Given the description of an element on the screen output the (x, y) to click on. 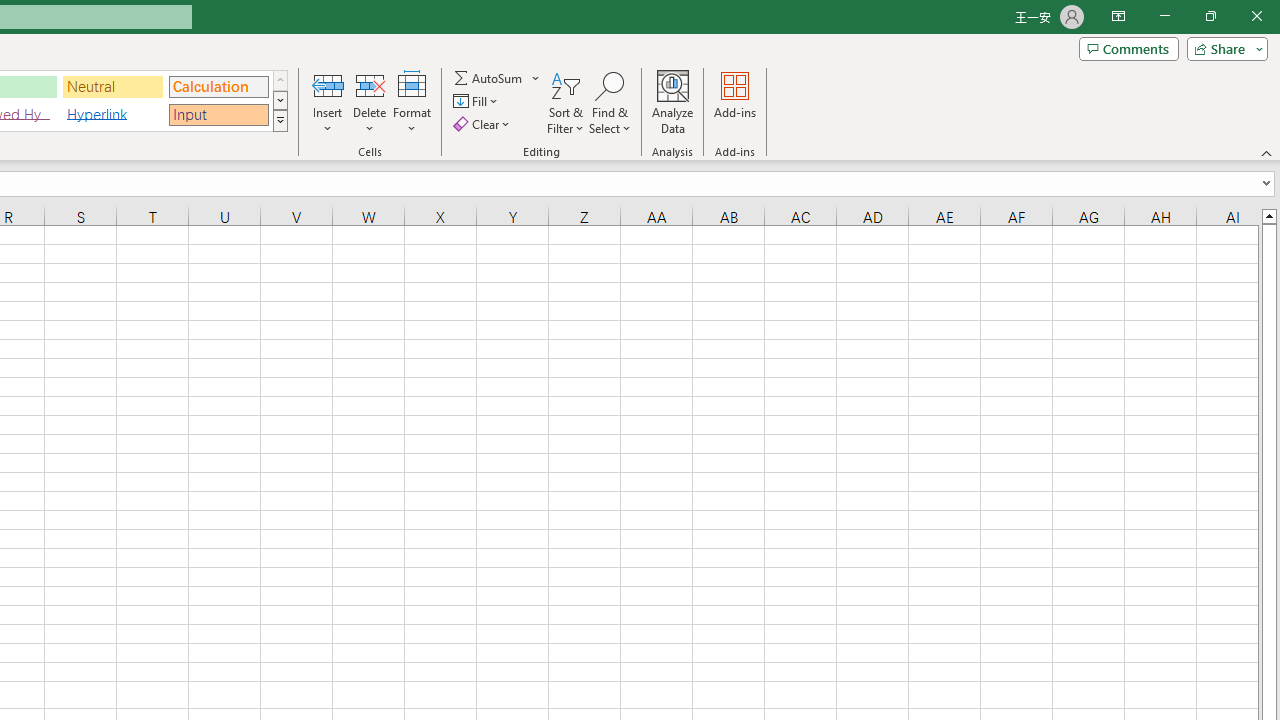
Ribbon Display Options (1118, 16)
